Given the description of an element on the screen output the (x, y) to click on. 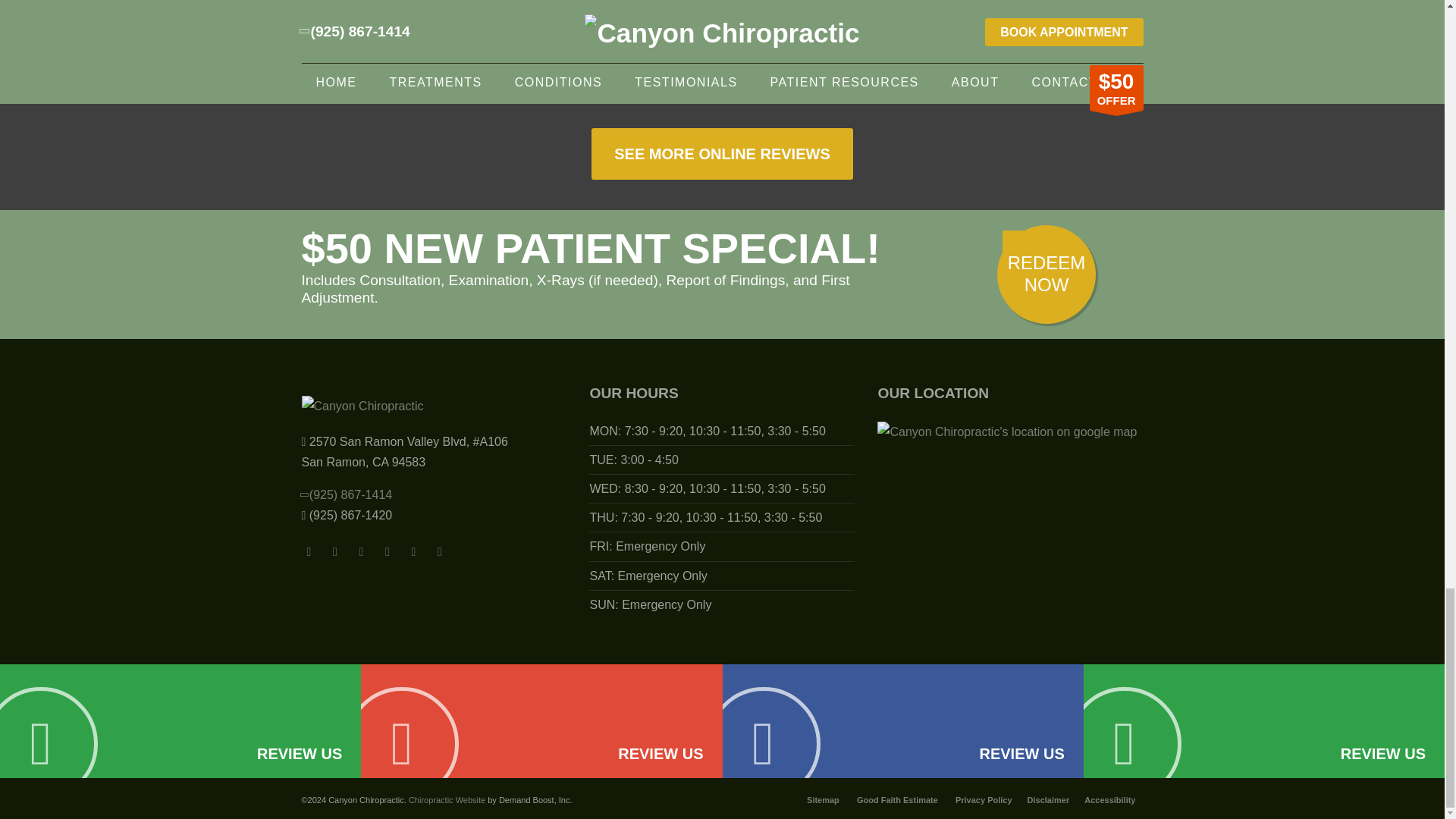
Youtube (387, 545)
Yelp (439, 545)
Click here to schedule consult (1046, 274)
Facebook (309, 545)
Instagram (334, 545)
Twitter (360, 545)
Click here to see all online reviews (721, 153)
Google (413, 545)
